Given the description of an element on the screen output the (x, y) to click on. 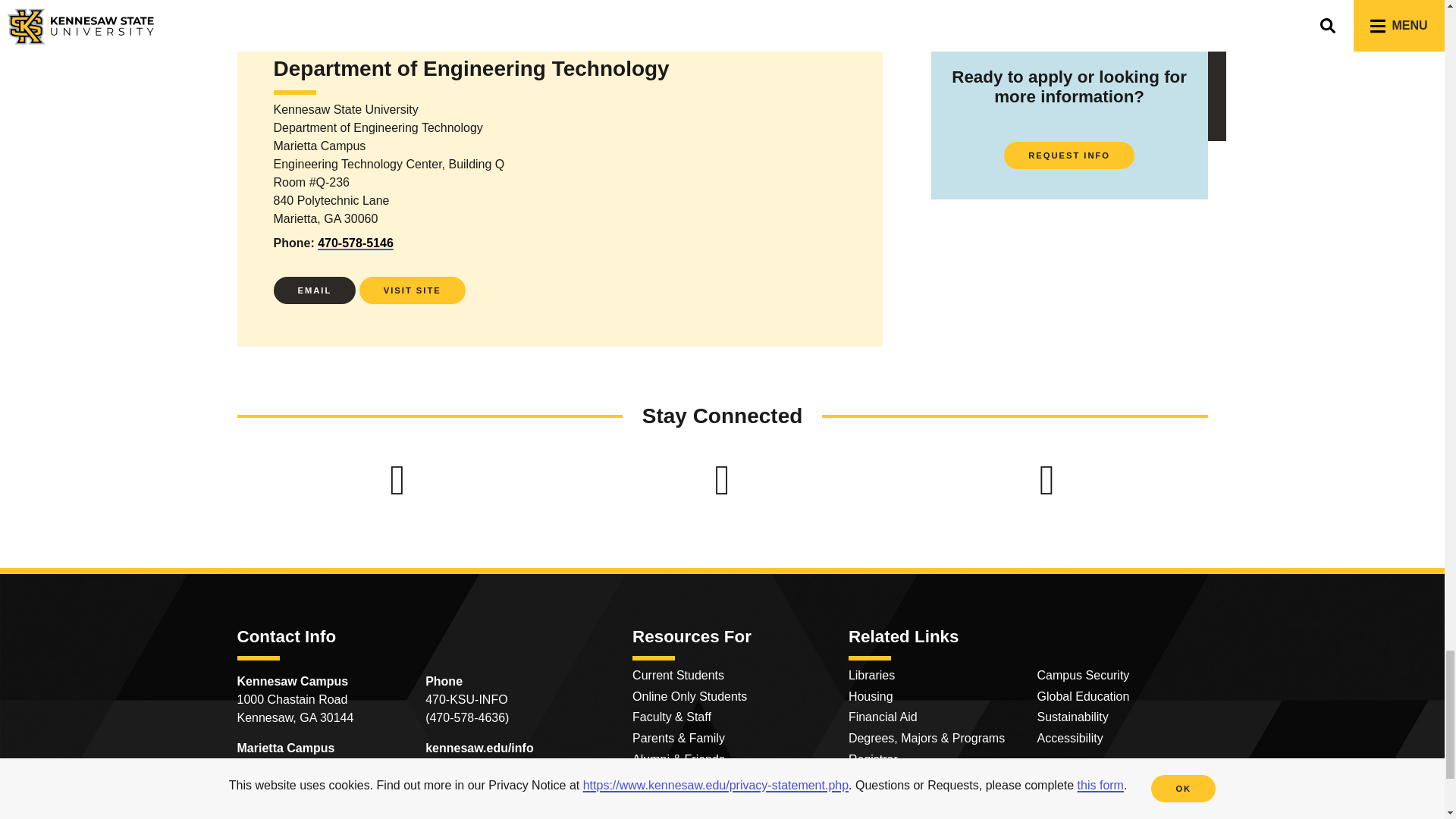
Instagram (1046, 479)
LinkedIn (722, 479)
Facebook (396, 479)
